Given the description of an element on the screen output the (x, y) to click on. 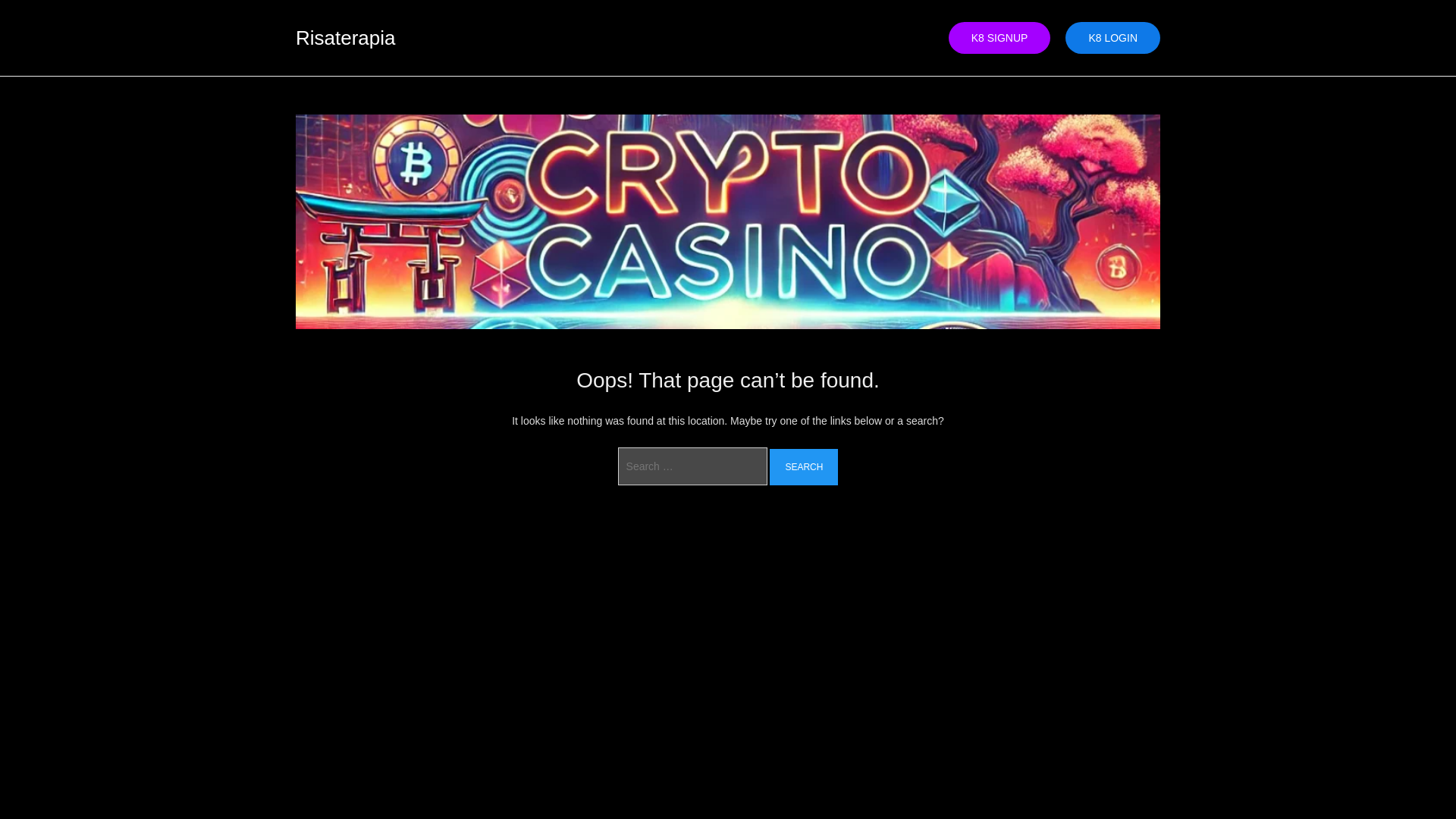
K8 LOGIN (1112, 38)
K8 SIGNUP (1000, 38)
Search (804, 466)
Risaterapia (345, 37)
Search (804, 466)
Search (804, 466)
